Given the description of an element on the screen output the (x, y) to click on. 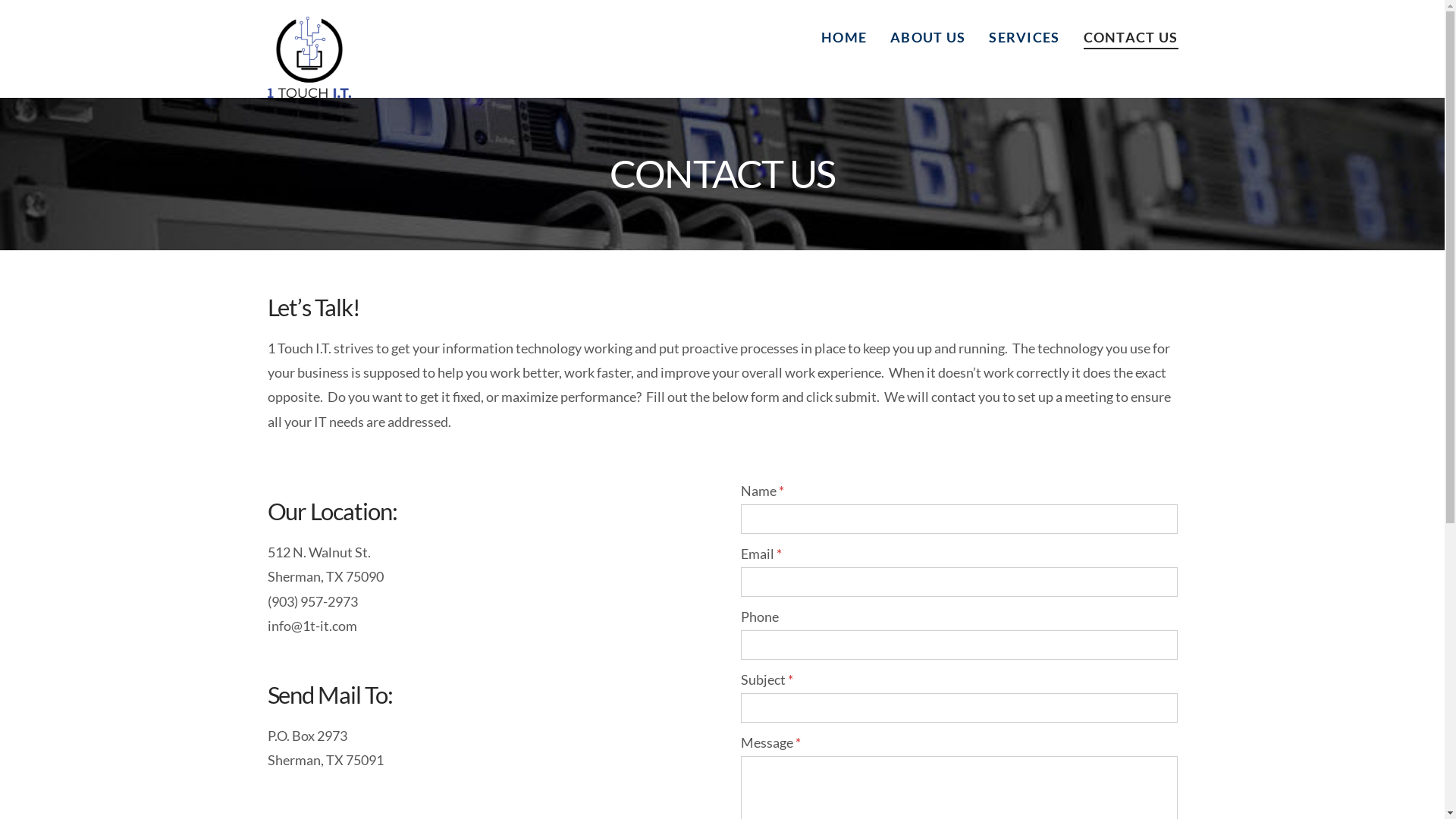
ABOUT US Element type: text (927, 34)
HOME Element type: text (843, 34)
CONTACT US Element type: text (1123, 34)
SERVICES Element type: text (1023, 34)
